Given the description of an element on the screen output the (x, y) to click on. 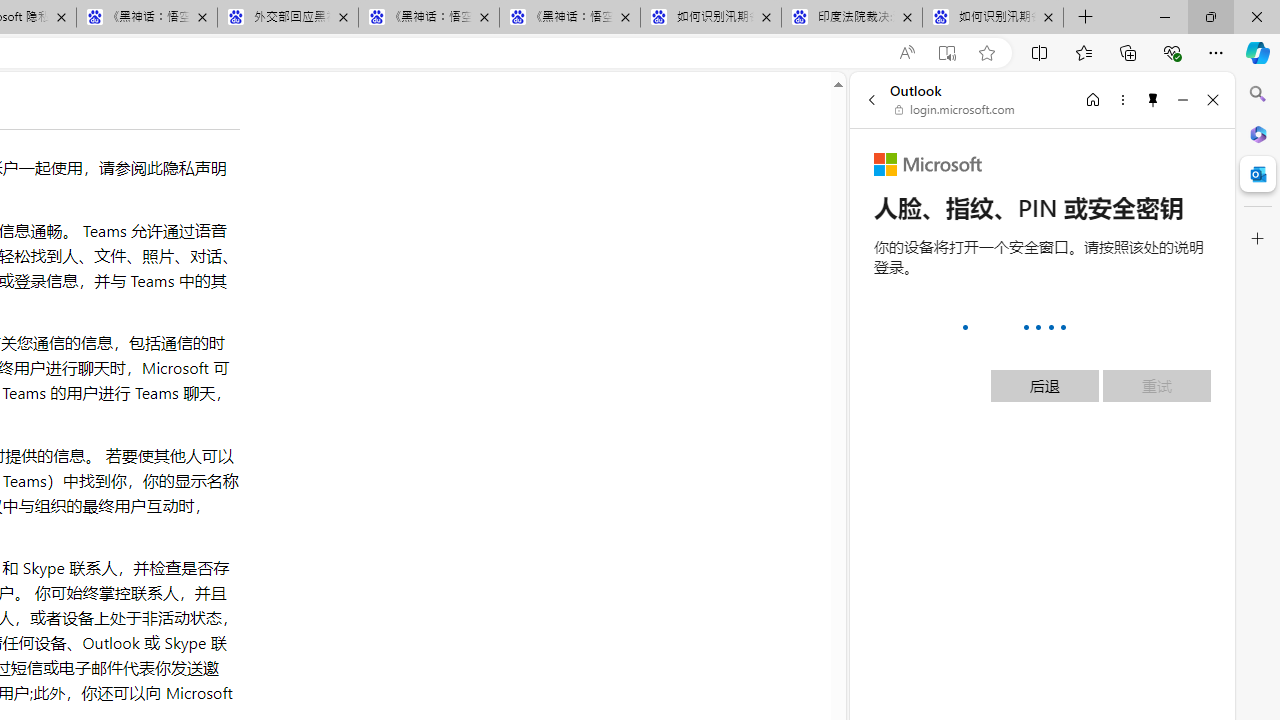
login.microsoft.com (955, 110)
